Given the description of an element on the screen output the (x, y) to click on. 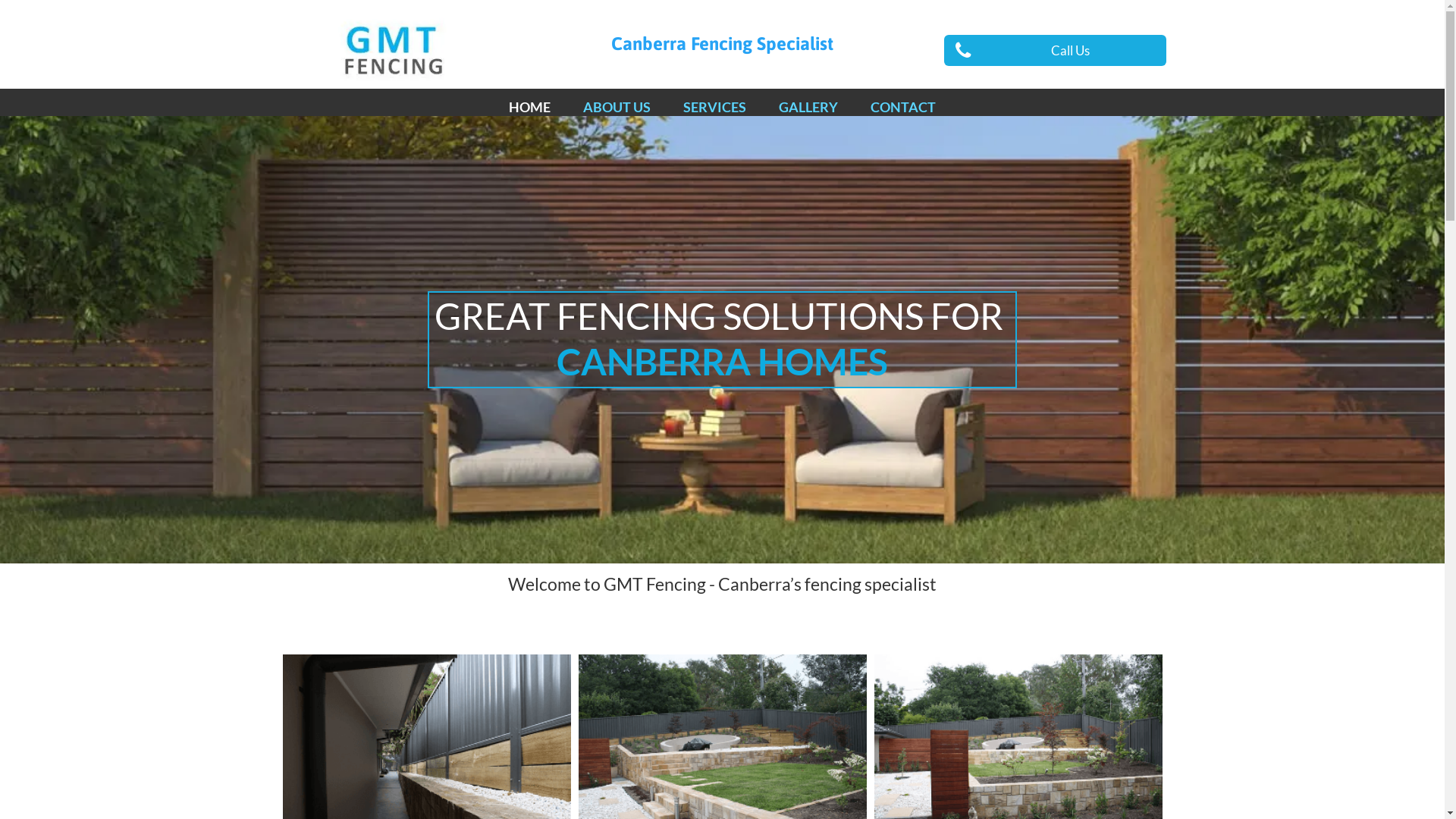
Call Us Element type: text (1055, 49)
GALLERY Element type: text (807, 107)
ABOUT US Element type: text (616, 107)
HOME Element type: text (529, 107)
SERVICES Element type: text (714, 107)
logo gmt1 Element type: hover (390, 49)
CONTACT Element type: text (902, 107)
